Given the description of an element on the screen output the (x, y) to click on. 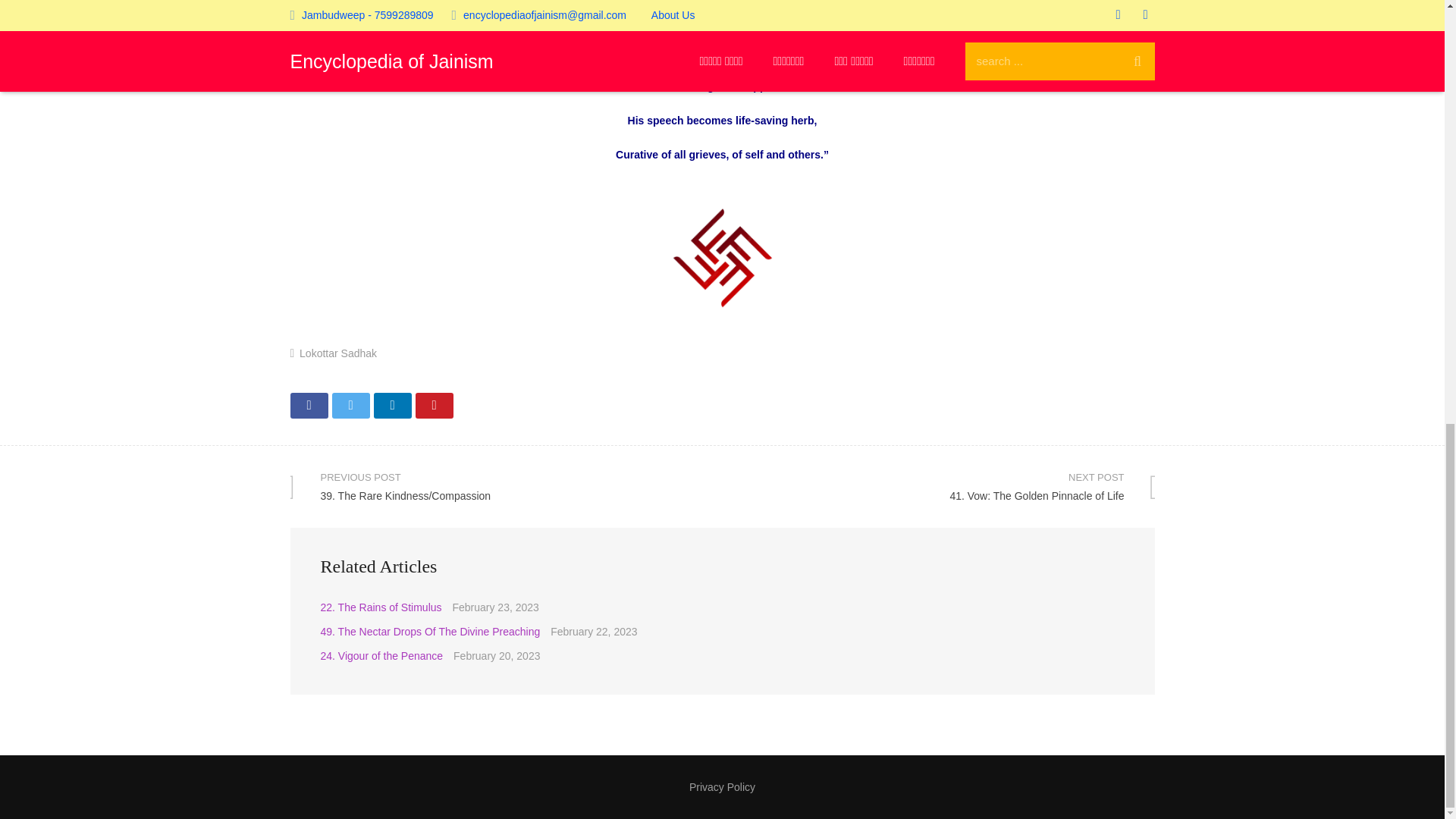
24. Vigour of the Penance (381, 655)
22. The Rains of Stimulus (380, 607)
Pin this (433, 405)
Share this (391, 405)
Privacy Policy (721, 787)
49. The Nectar Drops Of The Divine Preaching (430, 631)
Share this (938, 486)
Tweet this (308, 405)
Lokottar Sadhak (350, 405)
